Given the description of an element on the screen output the (x, y) to click on. 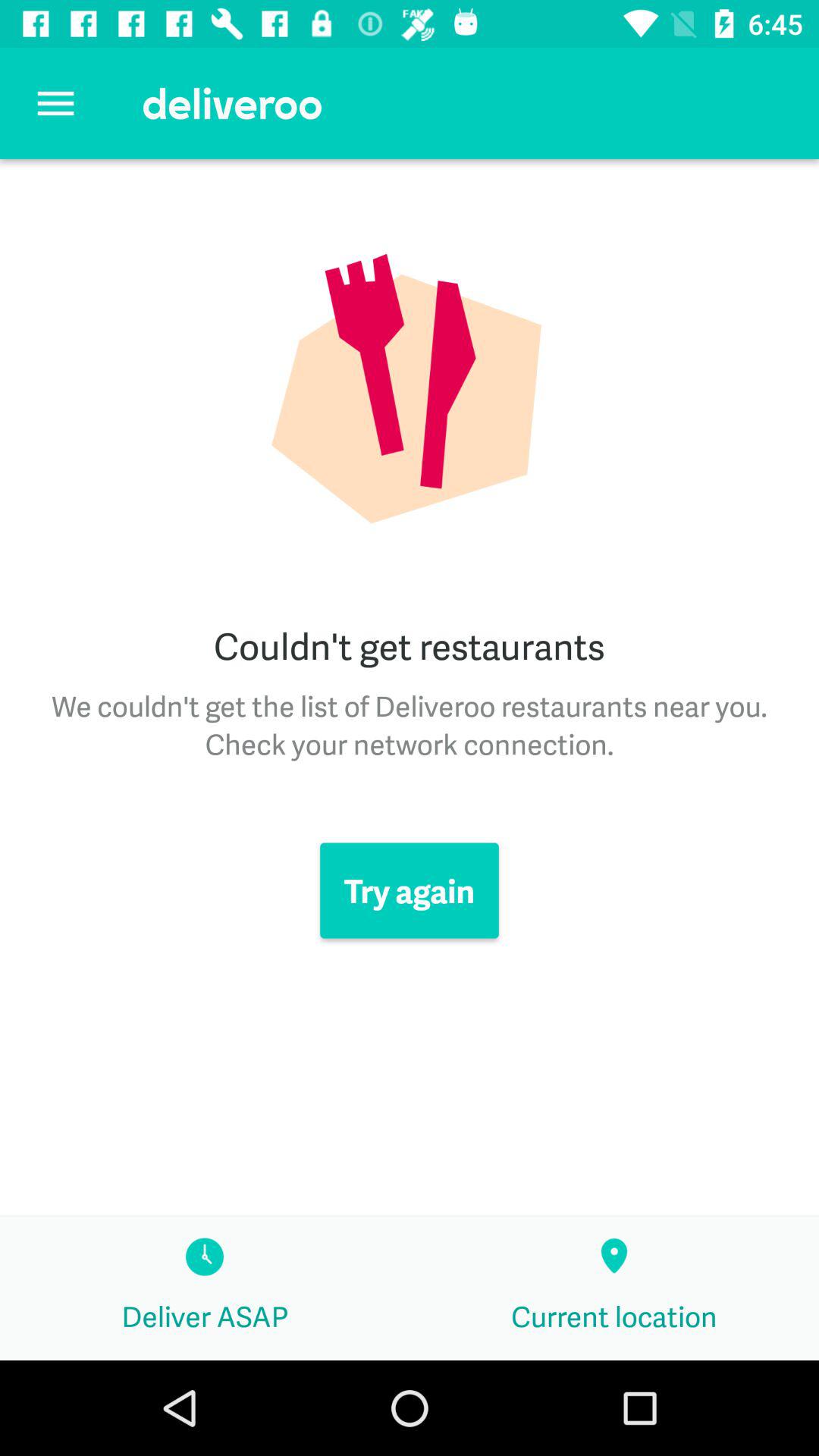
scroll to current location item (614, 1288)
